Given the description of an element on the screen output the (x, y) to click on. 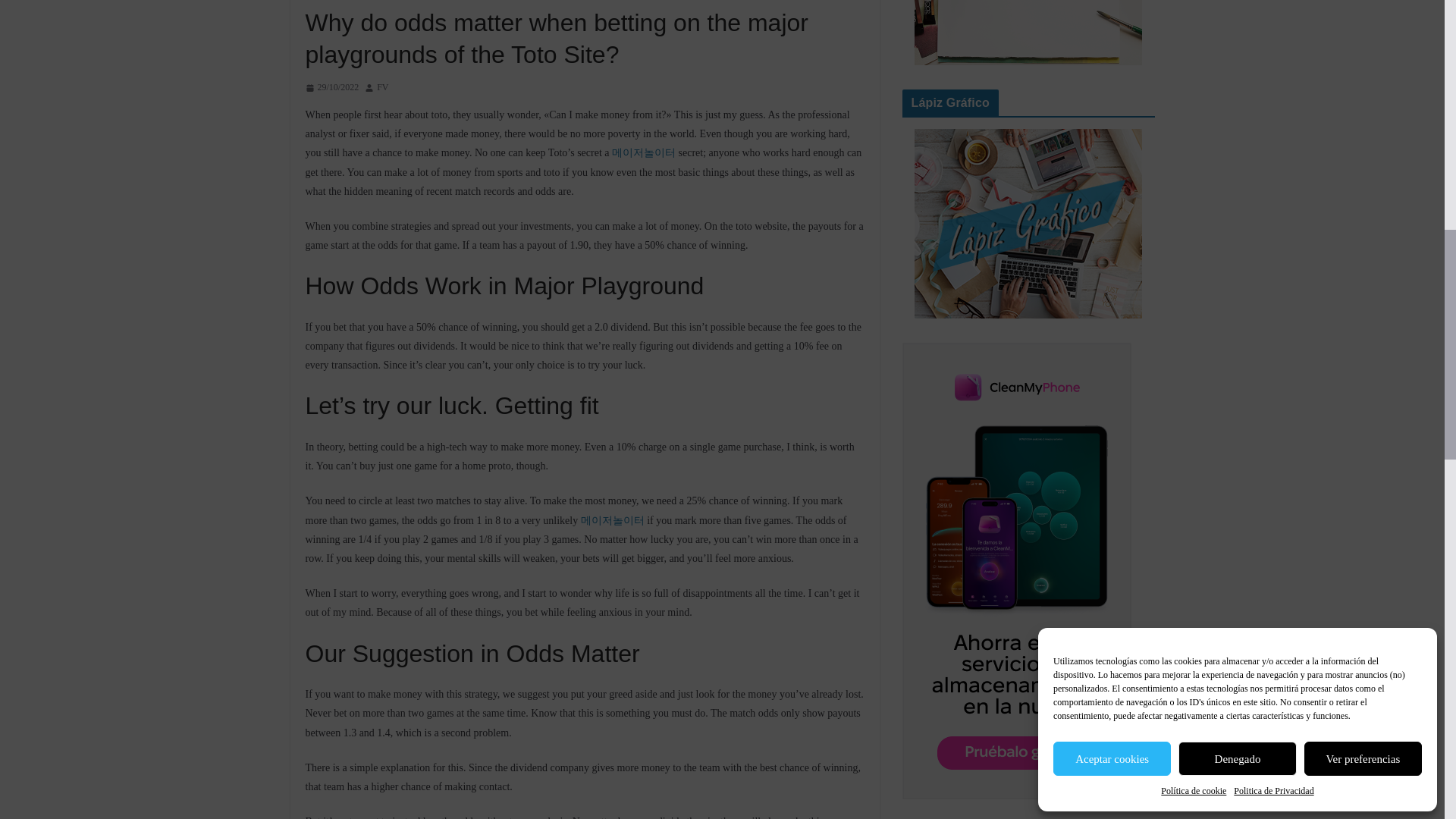
12:10 PM (331, 87)
